Given the description of an element on the screen output the (x, y) to click on. 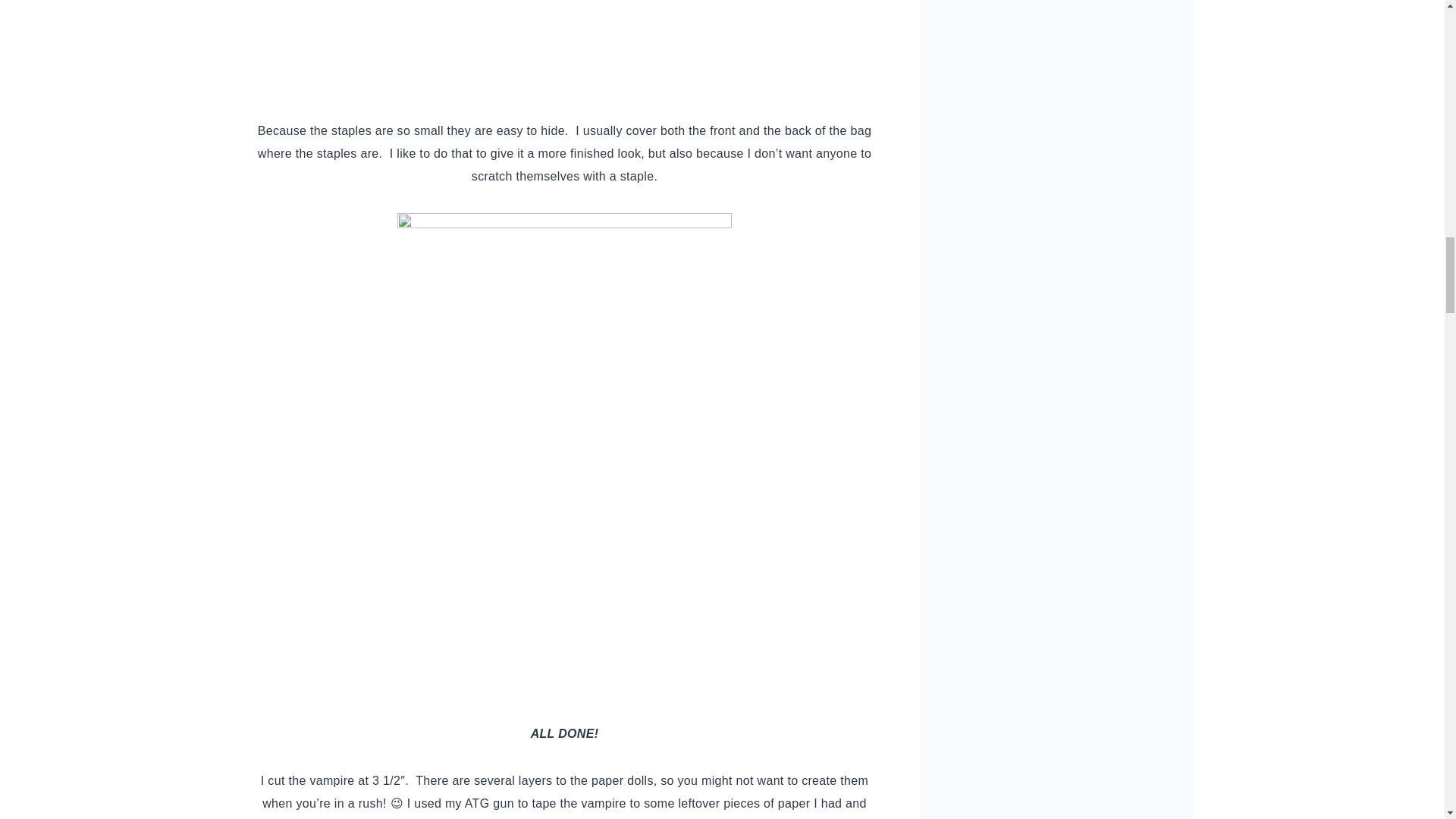
This candy is yummy backwards and forwards! (564, 47)
